Given the description of an element on the screen output the (x, y) to click on. 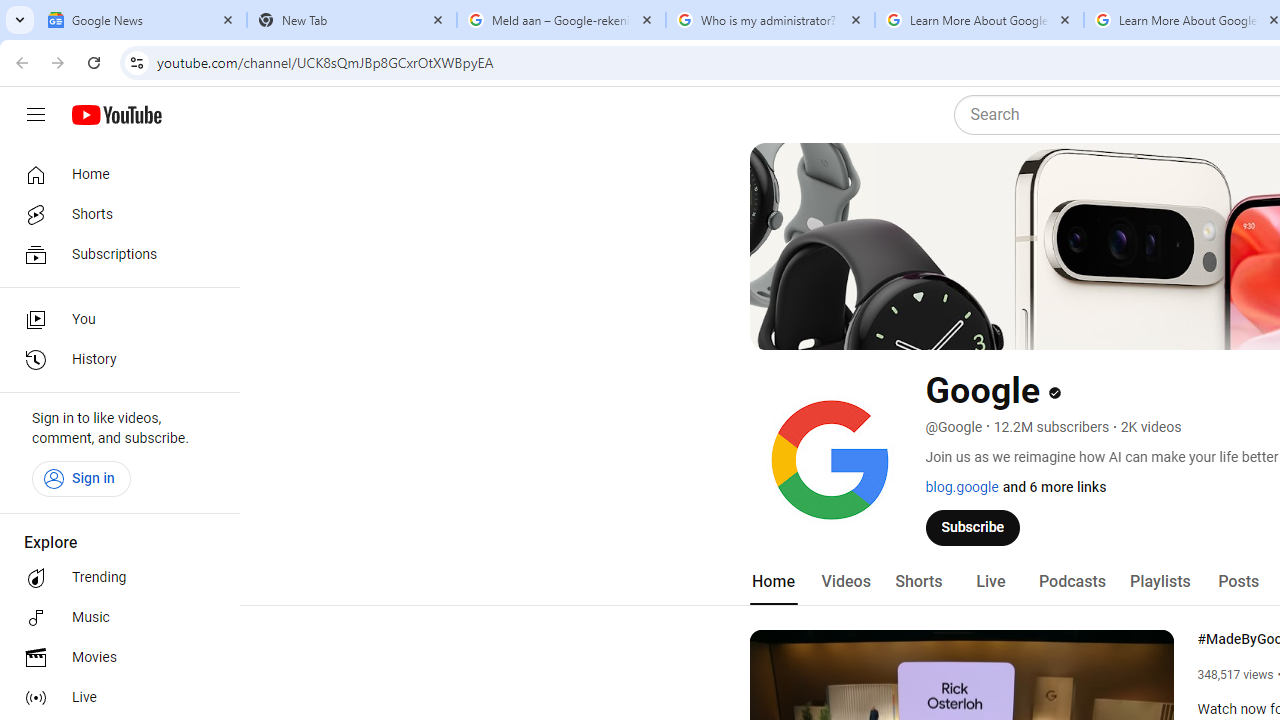
Trending (113, 578)
Movies (113, 657)
Subscriptions (113, 254)
Music (113, 617)
